Given the description of an element on the screen output the (x, y) to click on. 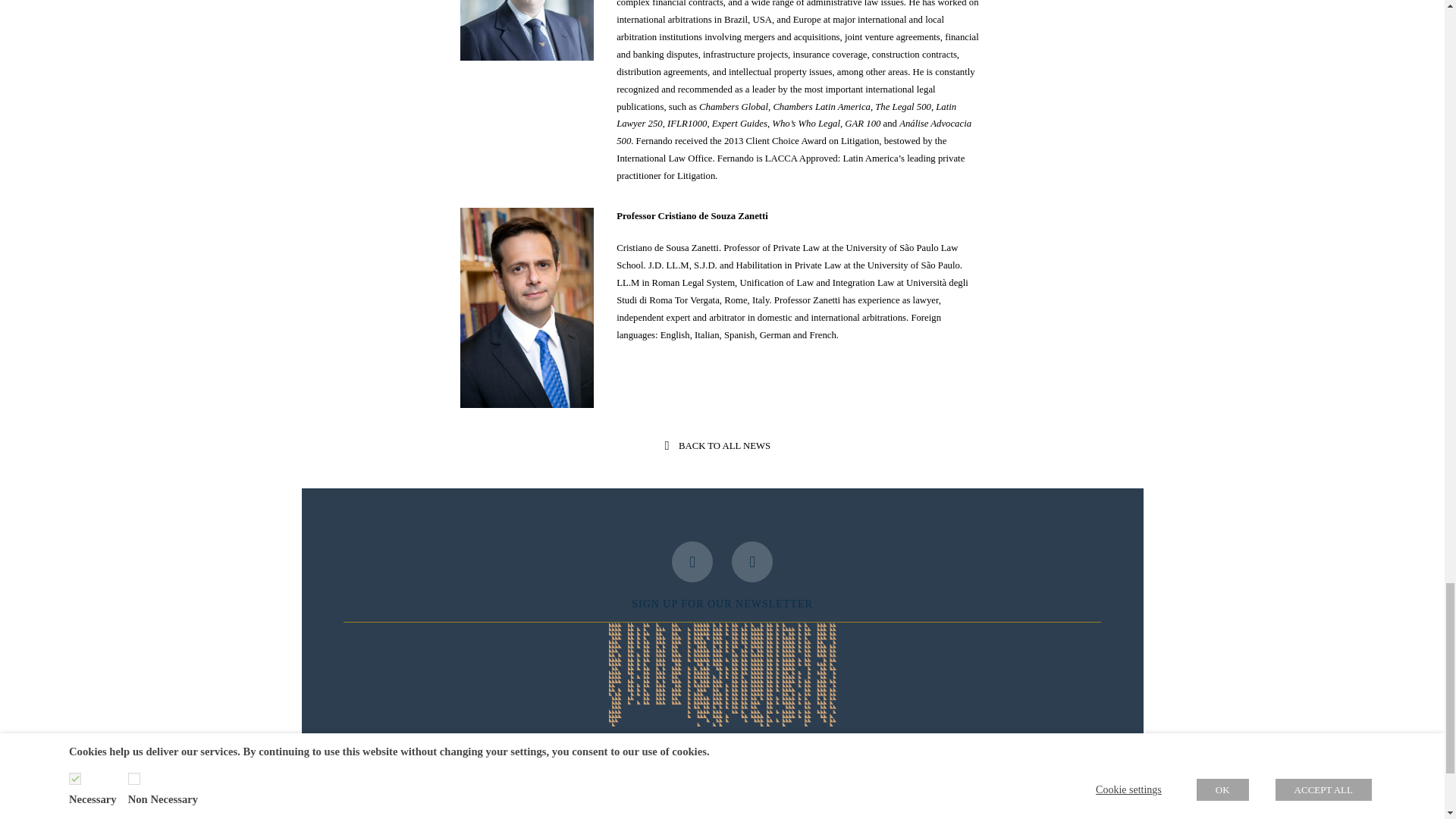
Facebook (692, 561)
LinkedIn (752, 561)
Fernando Eduardo Serec (527, 30)
